Given the description of an element on the screen output the (x, y) to click on. 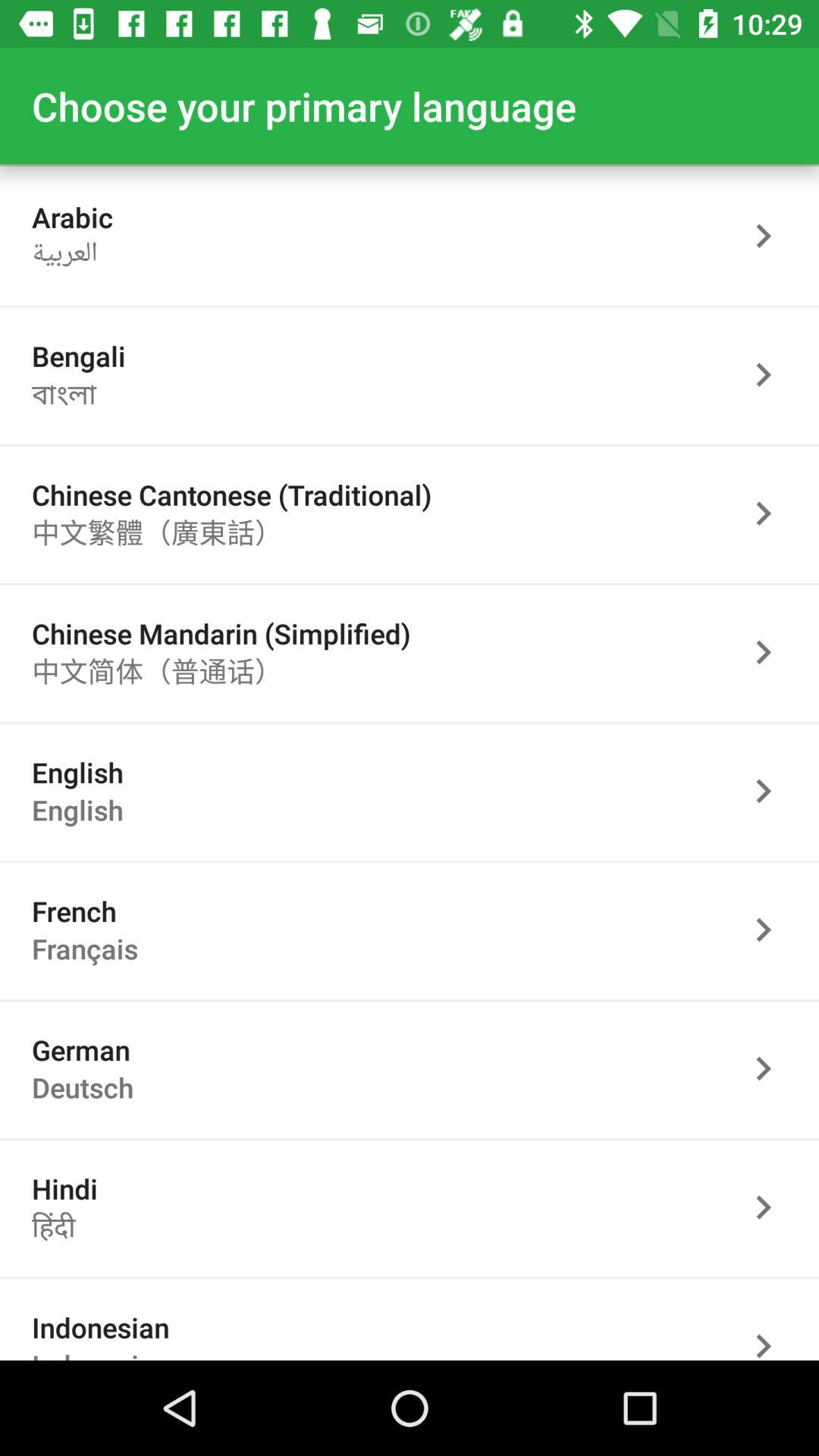
go next page (771, 513)
